Given the description of an element on the screen output the (x, y) to click on. 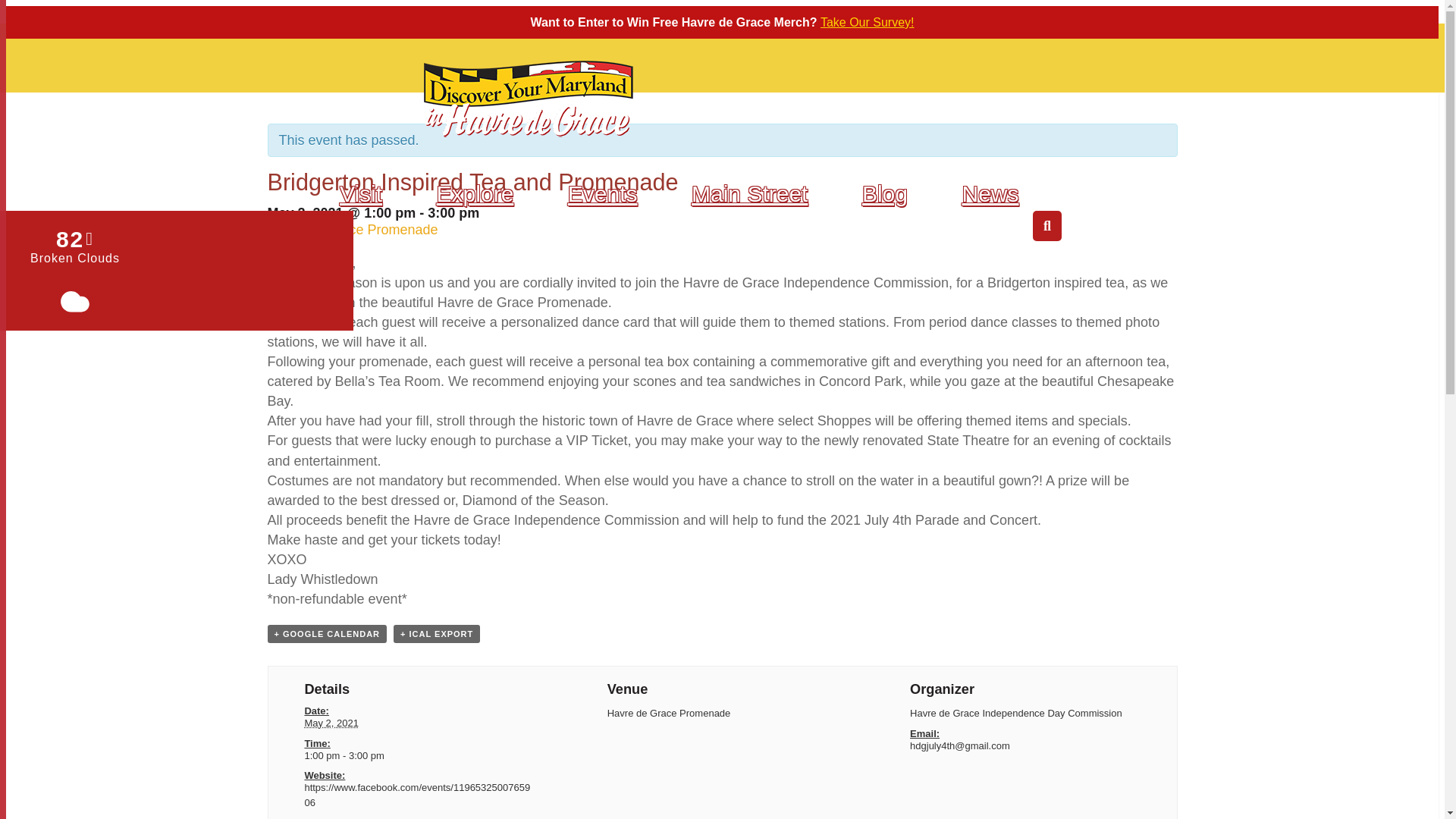
2021-05-02 (419, 755)
Take Our Survey! (867, 21)
Havre de Grace Independence Day Commission (1016, 713)
Download .ics file (436, 633)
Add to Google Calendar (326, 633)
2021-05-02 (331, 722)
